Given the description of an element on the screen output the (x, y) to click on. 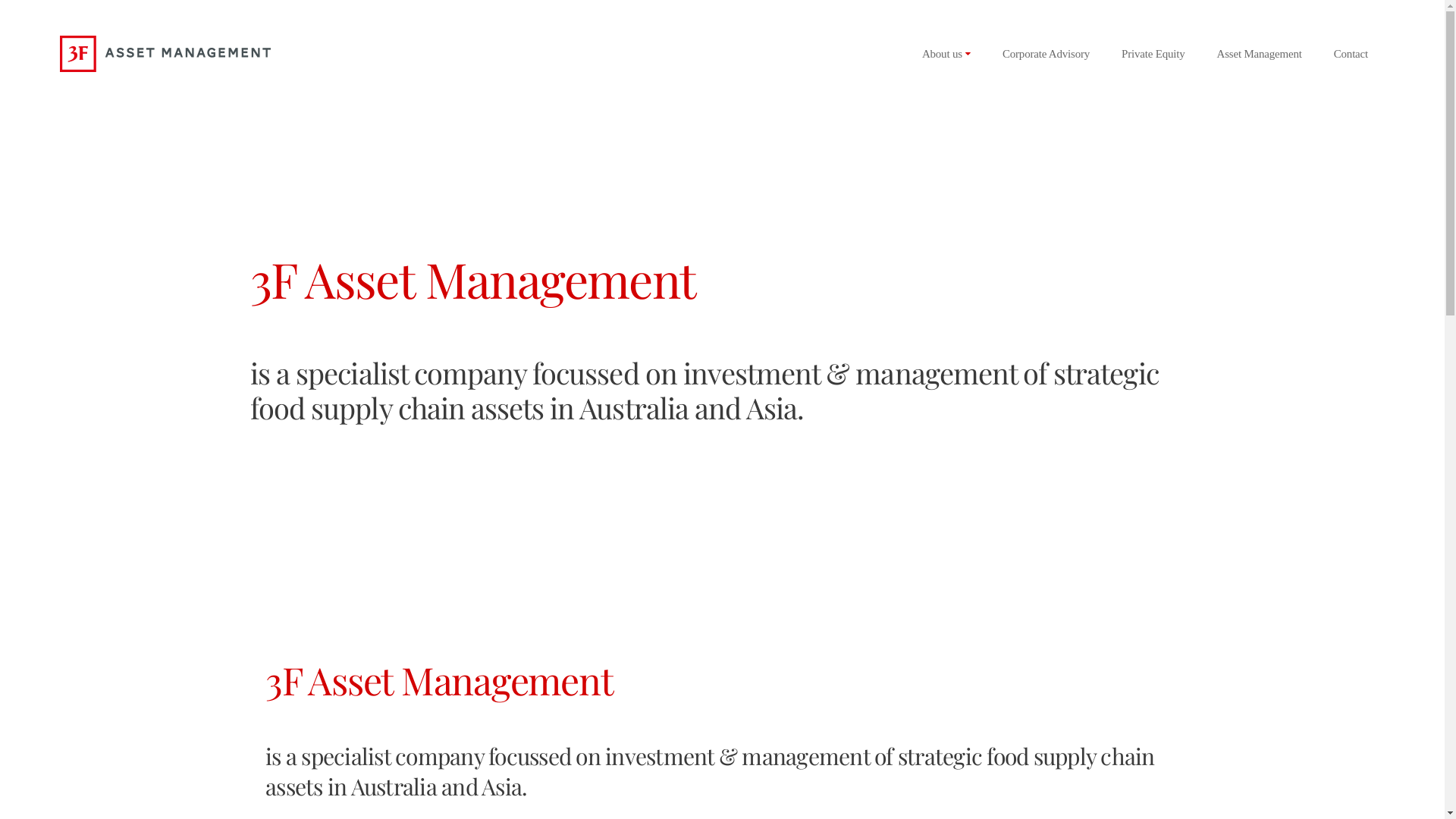
About us Element type: text (946, 53)
Asset Management Element type: text (1259, 53)
Corporate Advisory Element type: text (1045, 53)
Private Equity Element type: text (1152, 53)
Contact Element type: text (1350, 53)
